Given the description of an element on the screen output the (x, y) to click on. 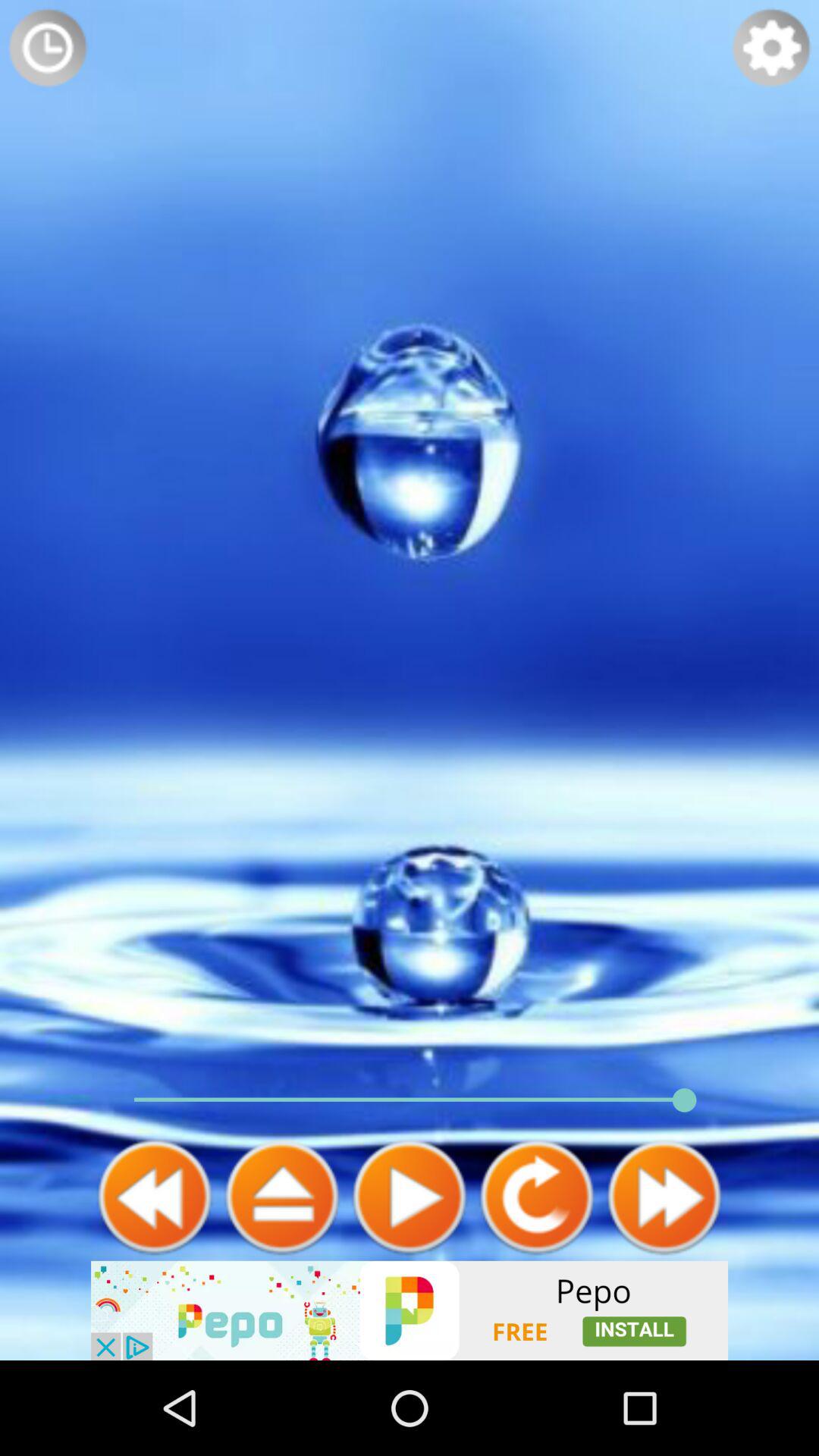
back arrow option (154, 1196)
